Given the description of an element on the screen output the (x, y) to click on. 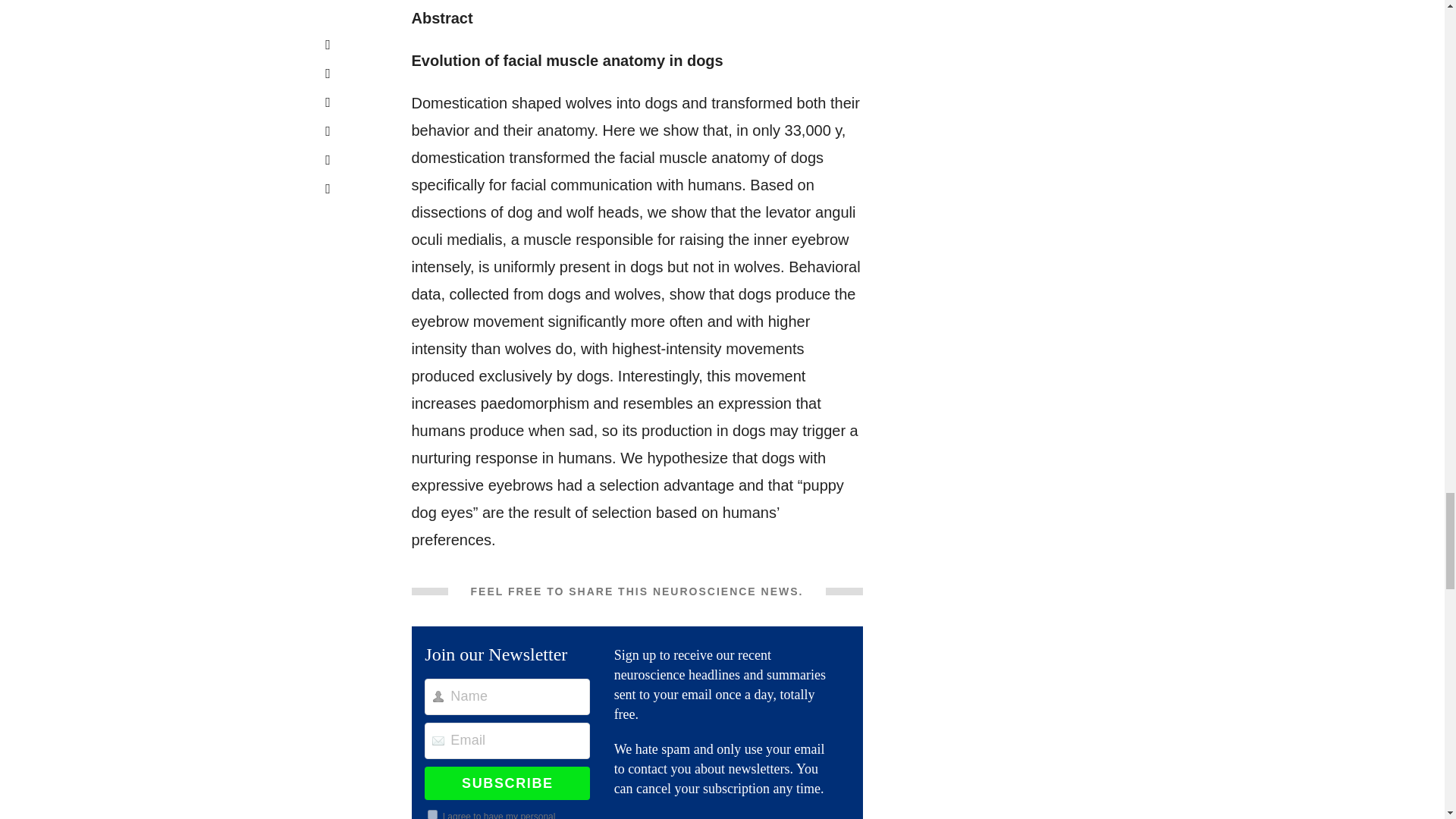
on (433, 814)
SUBSCRIBE (507, 783)
SUBSCRIBE (507, 783)
